Given the description of an element on the screen output the (x, y) to click on. 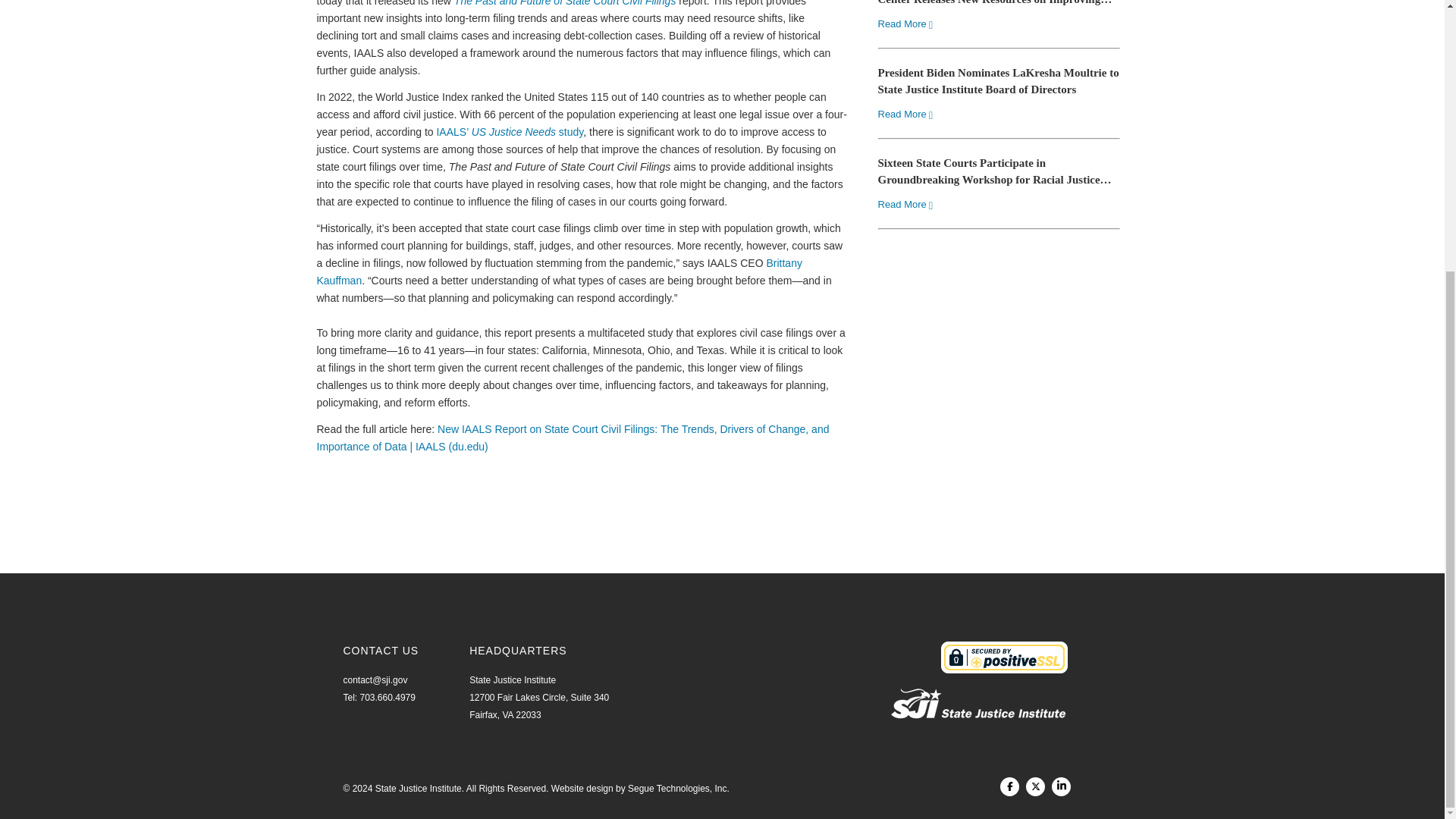
Twitter (1035, 786)
LinkedIn (1060, 786)
Facebook (1009, 786)
